Given the description of an element on the screen output the (x, y) to click on. 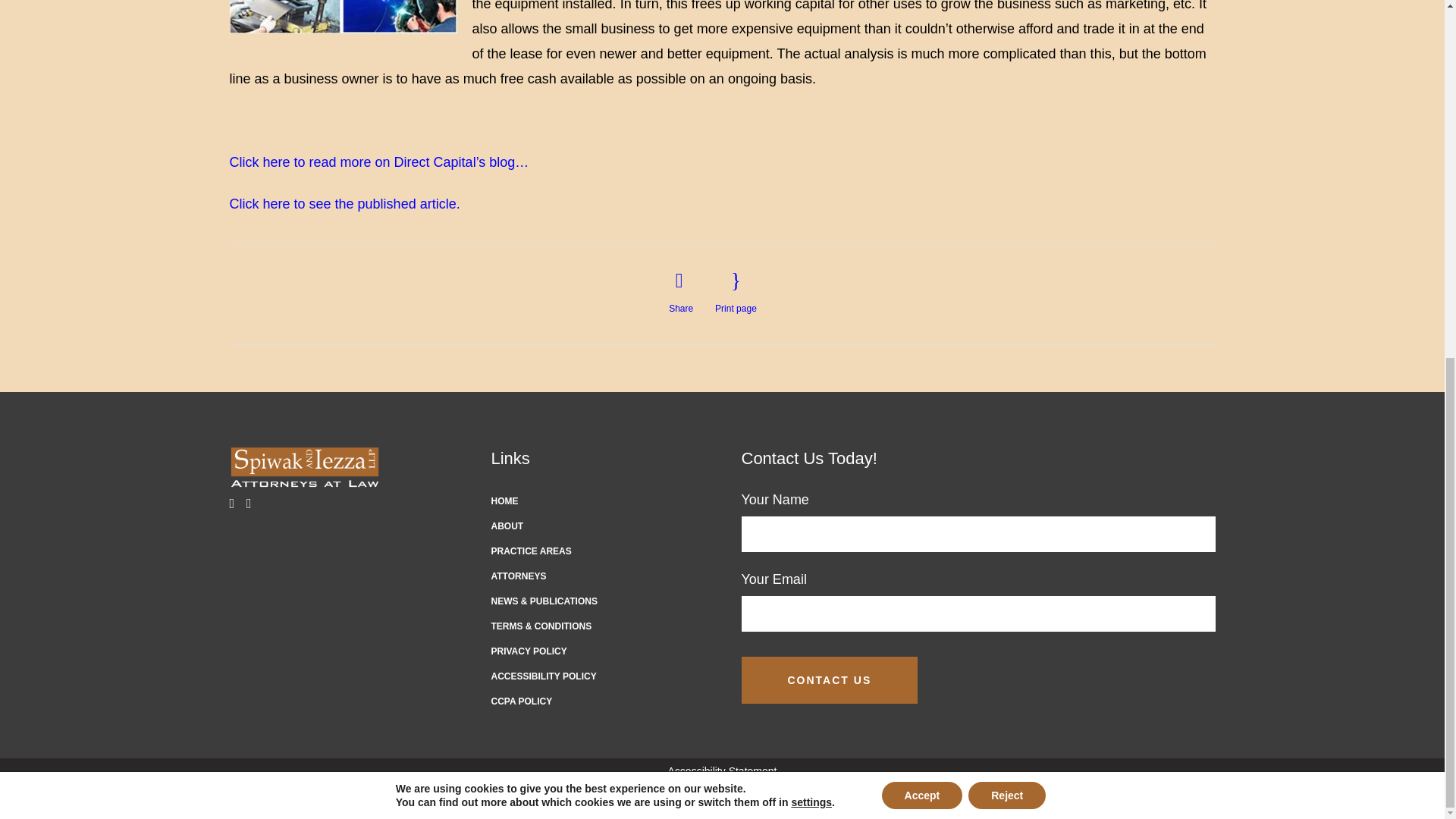
Click here to see the published article (344, 203)
Contact Us (829, 679)
